Given the description of an element on the screen output the (x, y) to click on. 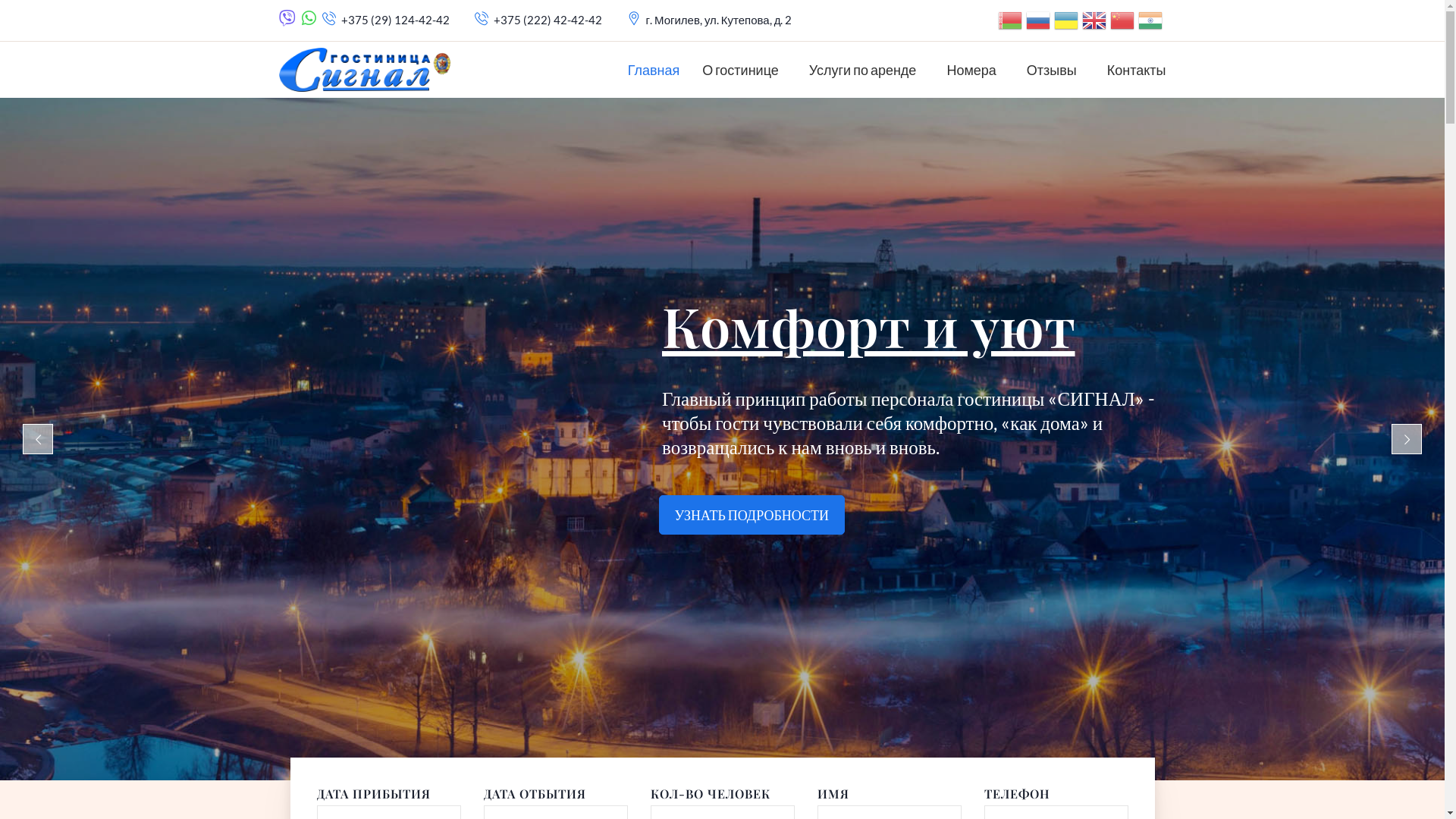
+375 (222) 42-42-42 Element type: text (546, 19)
+375 (29) 124-42-42 Element type: text (395, 19)
English Element type: hover (1093, 18)
